Given the description of an element on the screen output the (x, y) to click on. 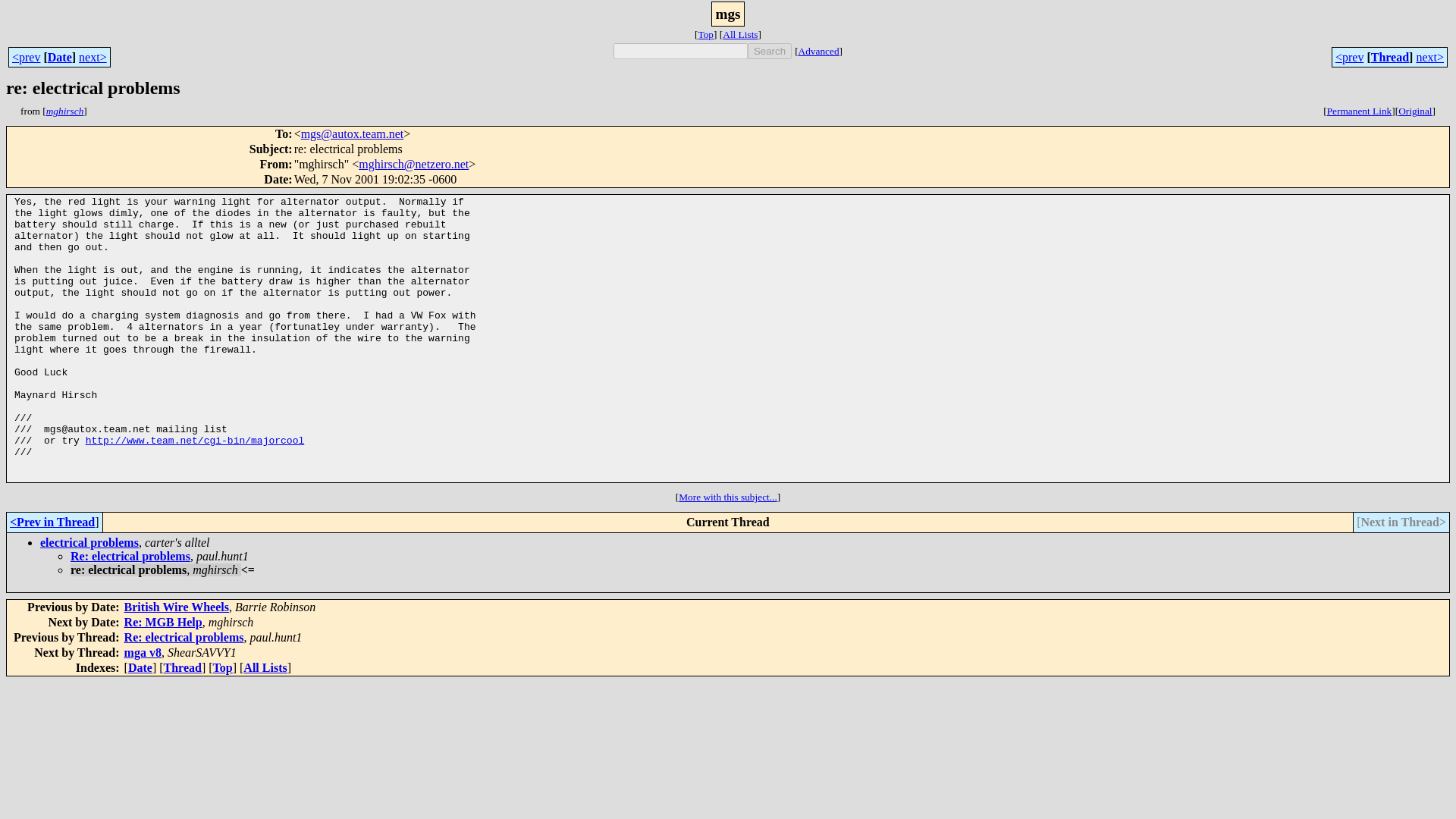
Thread (1390, 56)
British Wire Wheels (175, 606)
Top (705, 34)
mghirsch (65, 111)
Permanent Link (1358, 111)
Top (222, 667)
Re: MGB Help (162, 621)
Advanced (818, 50)
Date (140, 667)
All Lists (264, 667)
